Given the description of an element on the screen output the (x, y) to click on. 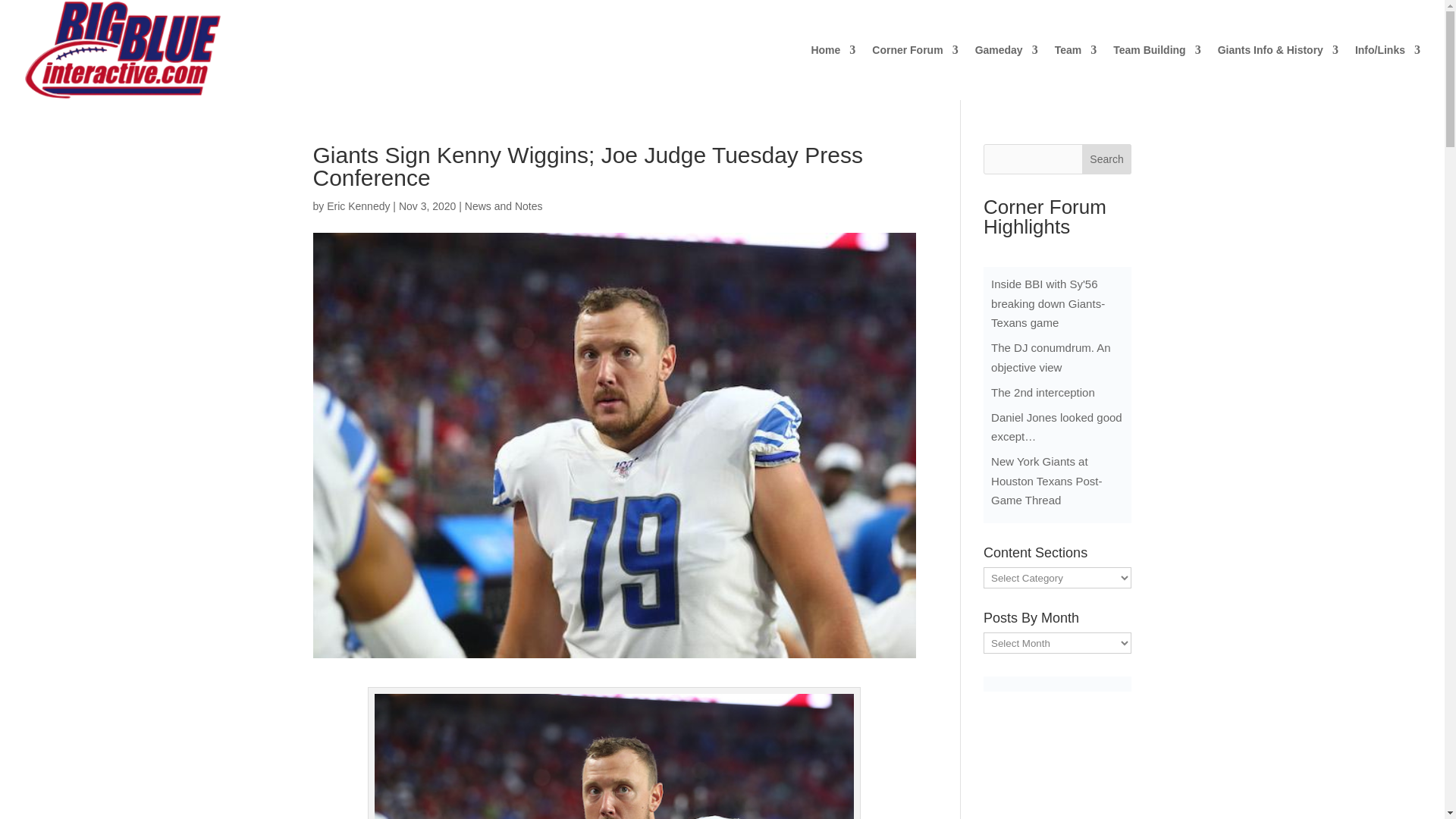
Gameday (1006, 72)
Posts by Eric Kennedy (358, 205)
Team Building (1156, 72)
Search (1106, 159)
Corner Forum (915, 72)
